Given the description of an element on the screen output the (x, y) to click on. 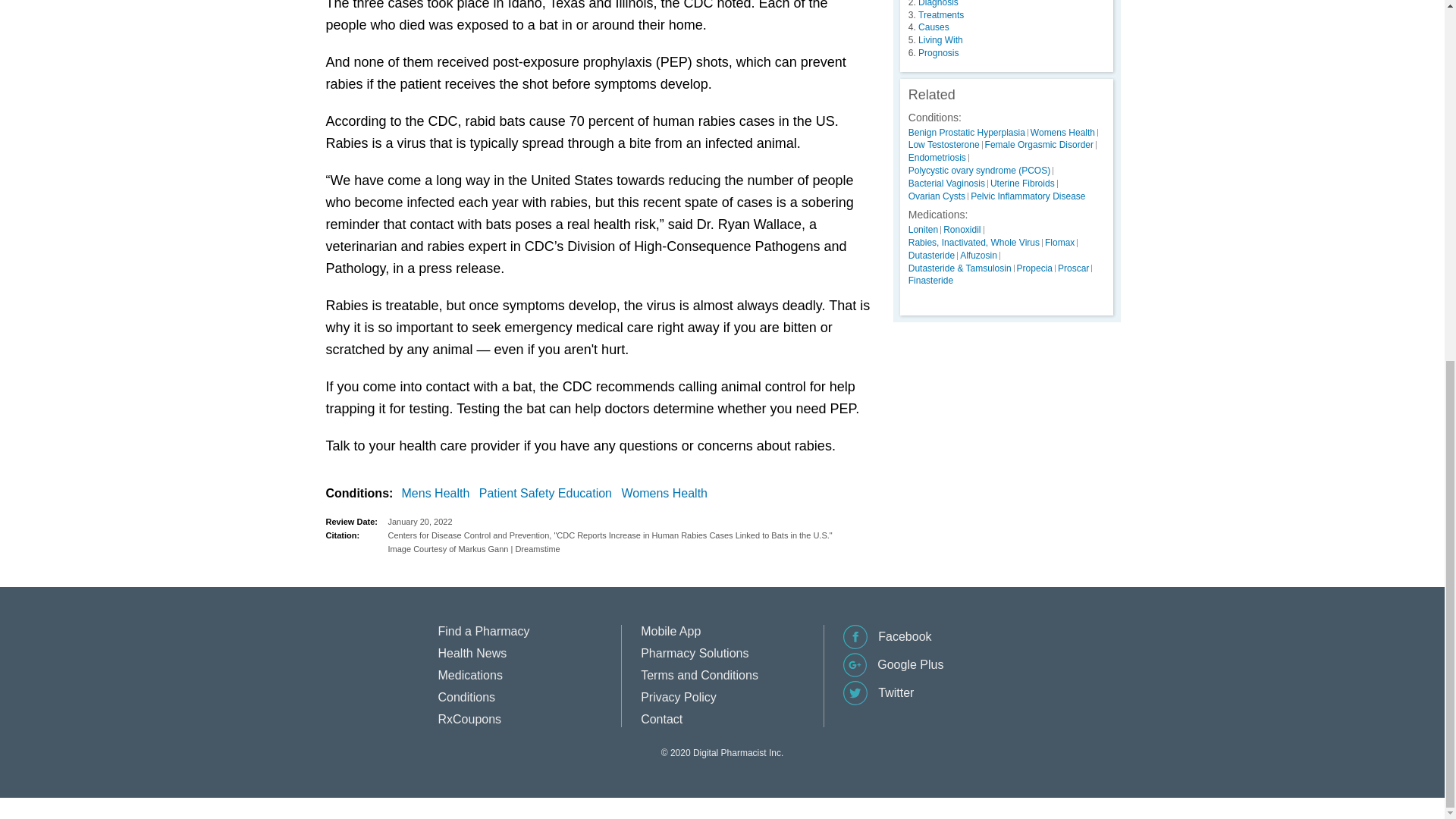
Patient Safety Education (548, 493)
Mens Health (438, 493)
Womens Health (667, 493)
